Given the description of an element on the screen output the (x, y) to click on. 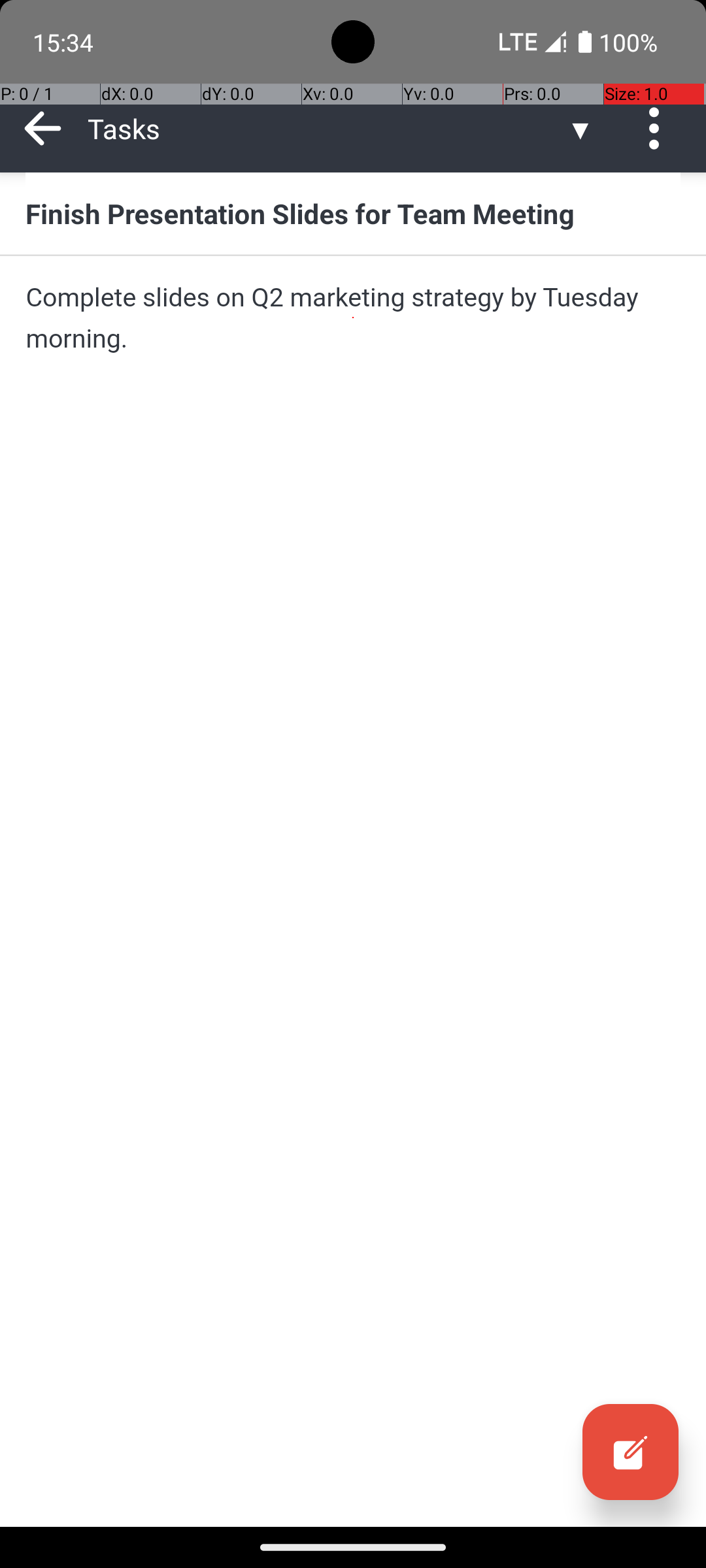
Finish Presentation Slides for Team Meeting Element type: android.widget.EditText (352, 213)
Complete slides on Q2 marketing strategy by Tuesday morning. Element type: android.widget.TextView (352, 317)
